Given the description of an element on the screen output the (x, y) to click on. 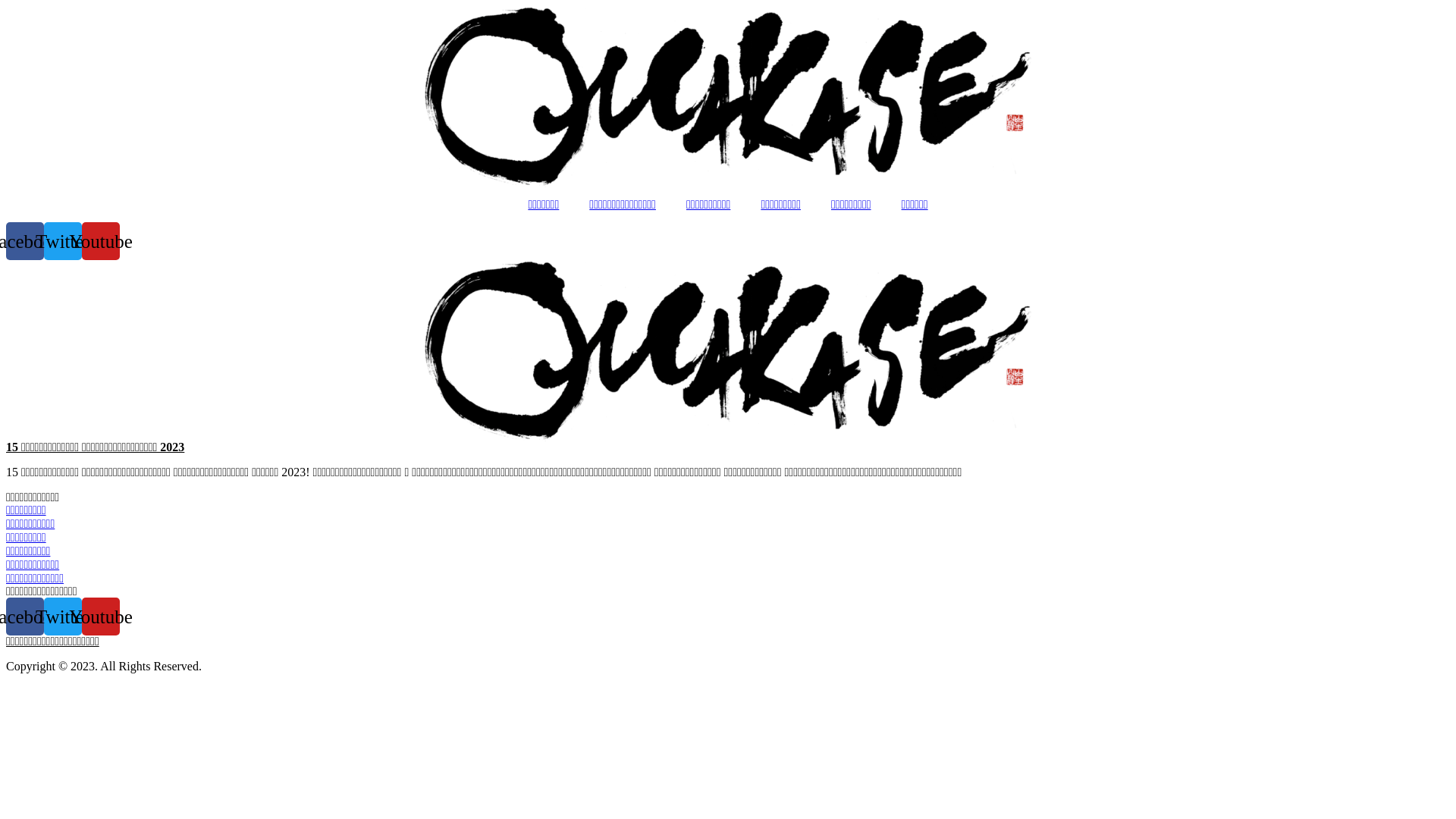
Facebook Element type: text (24, 241)
Facebook Element type: text (24, 616)
Twitter Element type: text (62, 616)
Twitter Element type: text (62, 241)
Youtube Element type: text (100, 616)
Youtube Element type: text (100, 241)
